Given the description of an element on the screen output the (x, y) to click on. 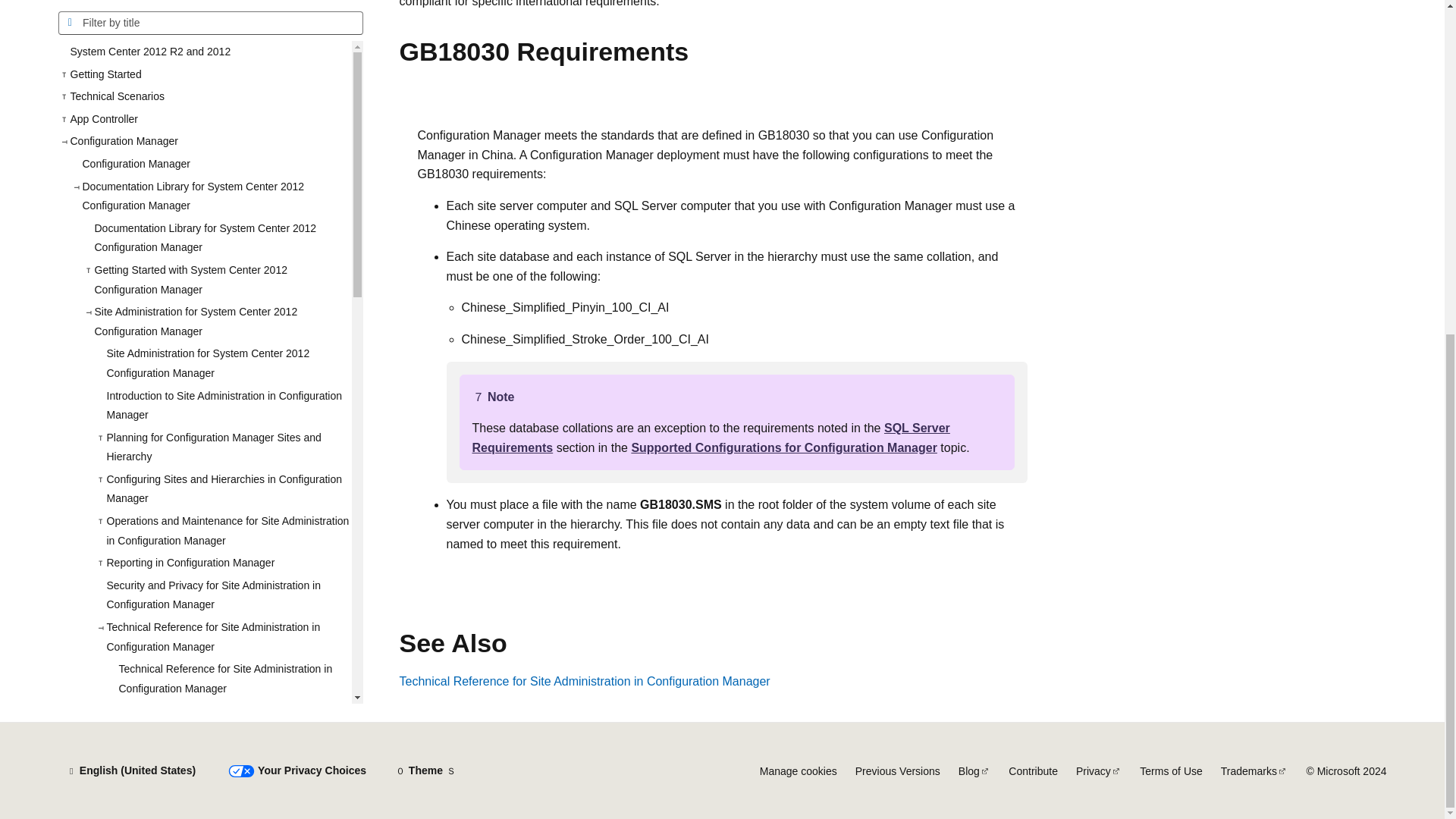
Theme (425, 770)
Introduction to Site Administration in Configuration Manager (222, 6)
Technical Reference for Log Files in Configuration Manager (228, 391)
Technical Reference for Ports Used in Configuration Manager (228, 350)
